Given the description of an element on the screen output the (x, y) to click on. 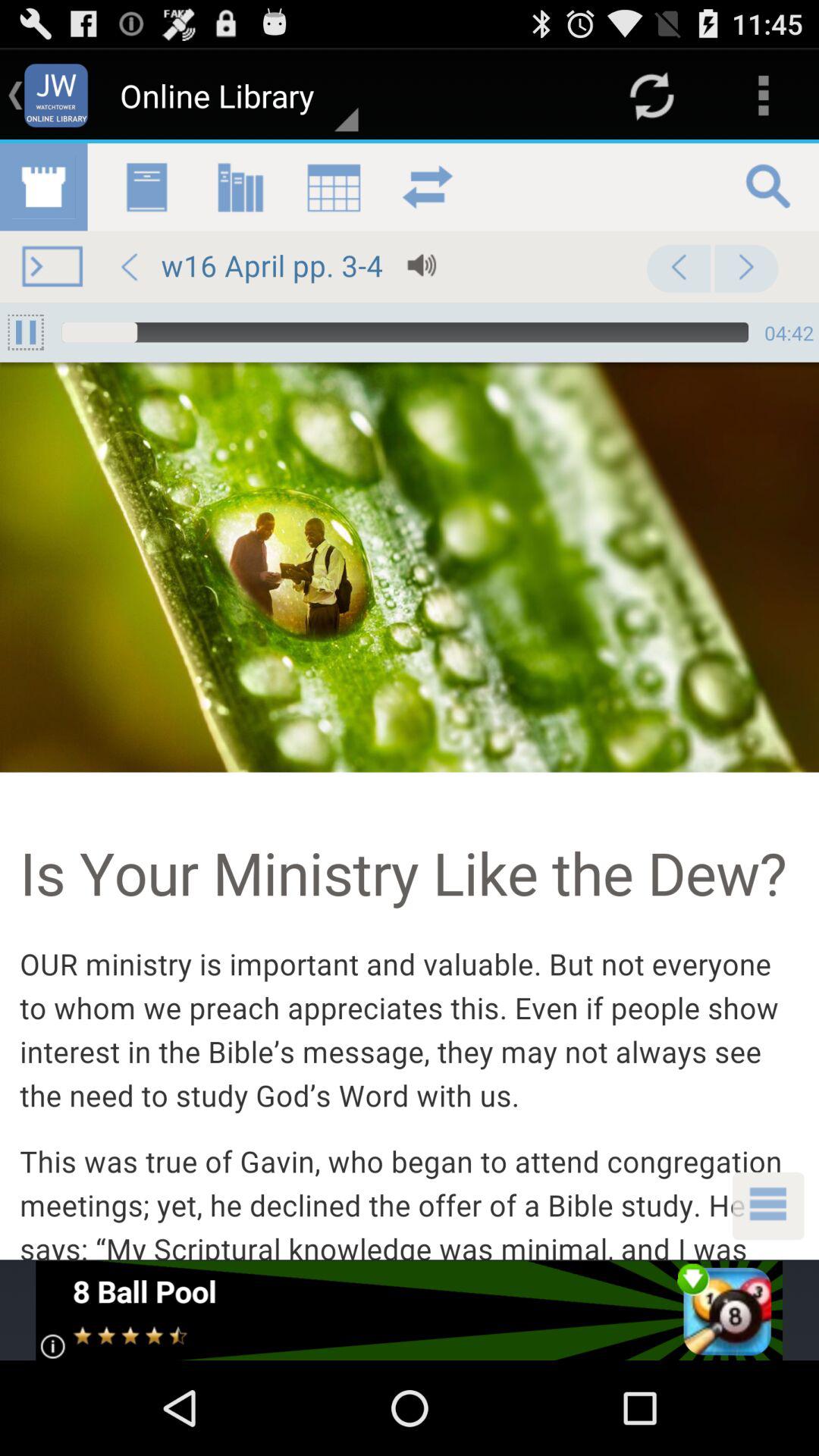
open advertisement (408, 1310)
